Given the description of an element on the screen output the (x, y) to click on. 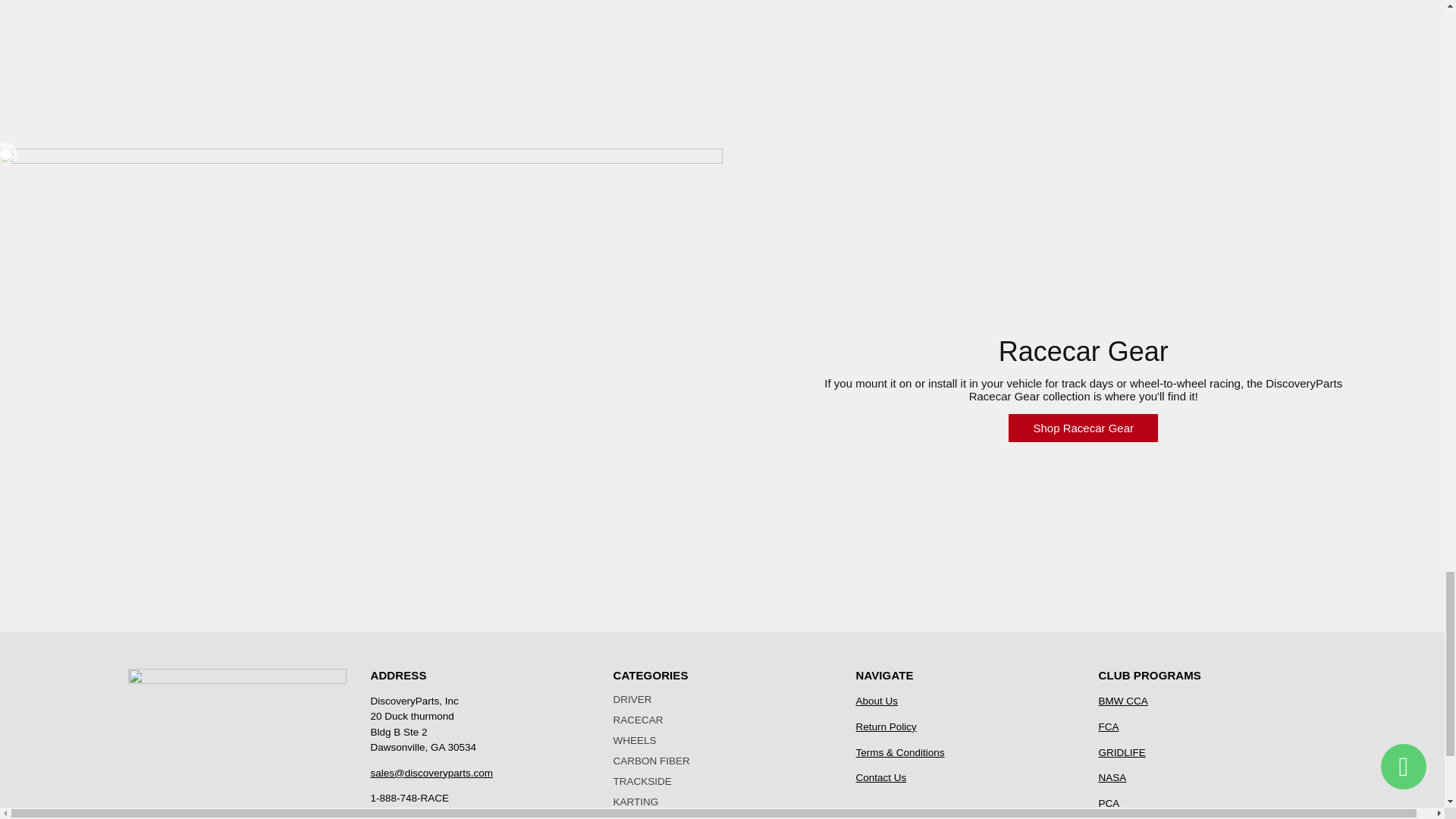
Terms and Conditions (899, 752)
Return Policy (885, 726)
Contact (880, 777)
About Us (877, 700)
